Given the description of an element on the screen output the (x, y) to click on. 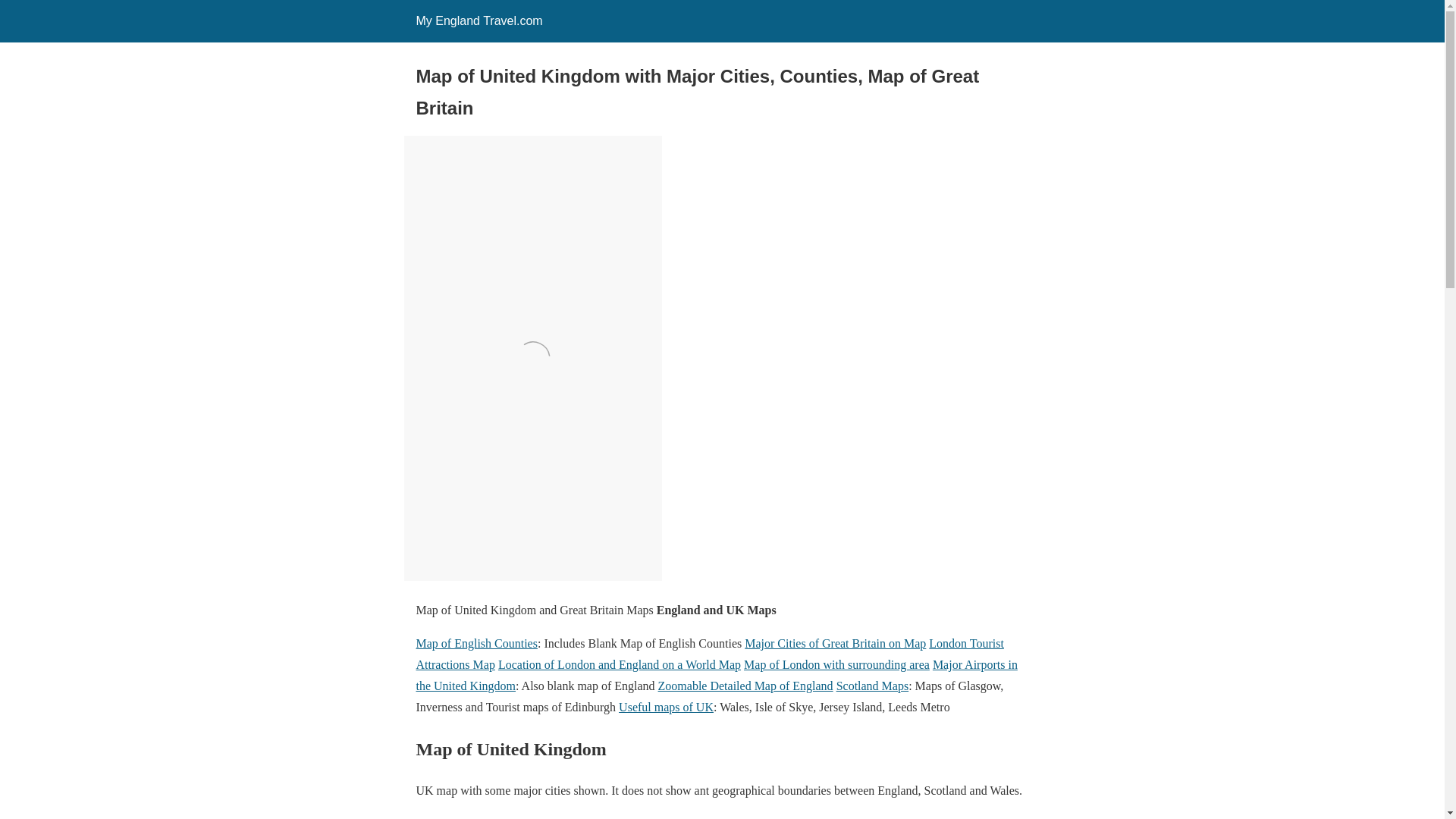
Scotland Maps (871, 685)
Useful maps of UK (665, 707)
Major Airports in the United Kingdom (715, 675)
London Tourist Attractions Map (708, 653)
Map of English Counties (475, 643)
Location of London and England on a World Map (619, 664)
Major Cities of Great Britain on Map (835, 643)
Zoomable Detailed Map of England (745, 685)
My England Travel.com (477, 20)
